Given the description of an element on the screen output the (x, y) to click on. 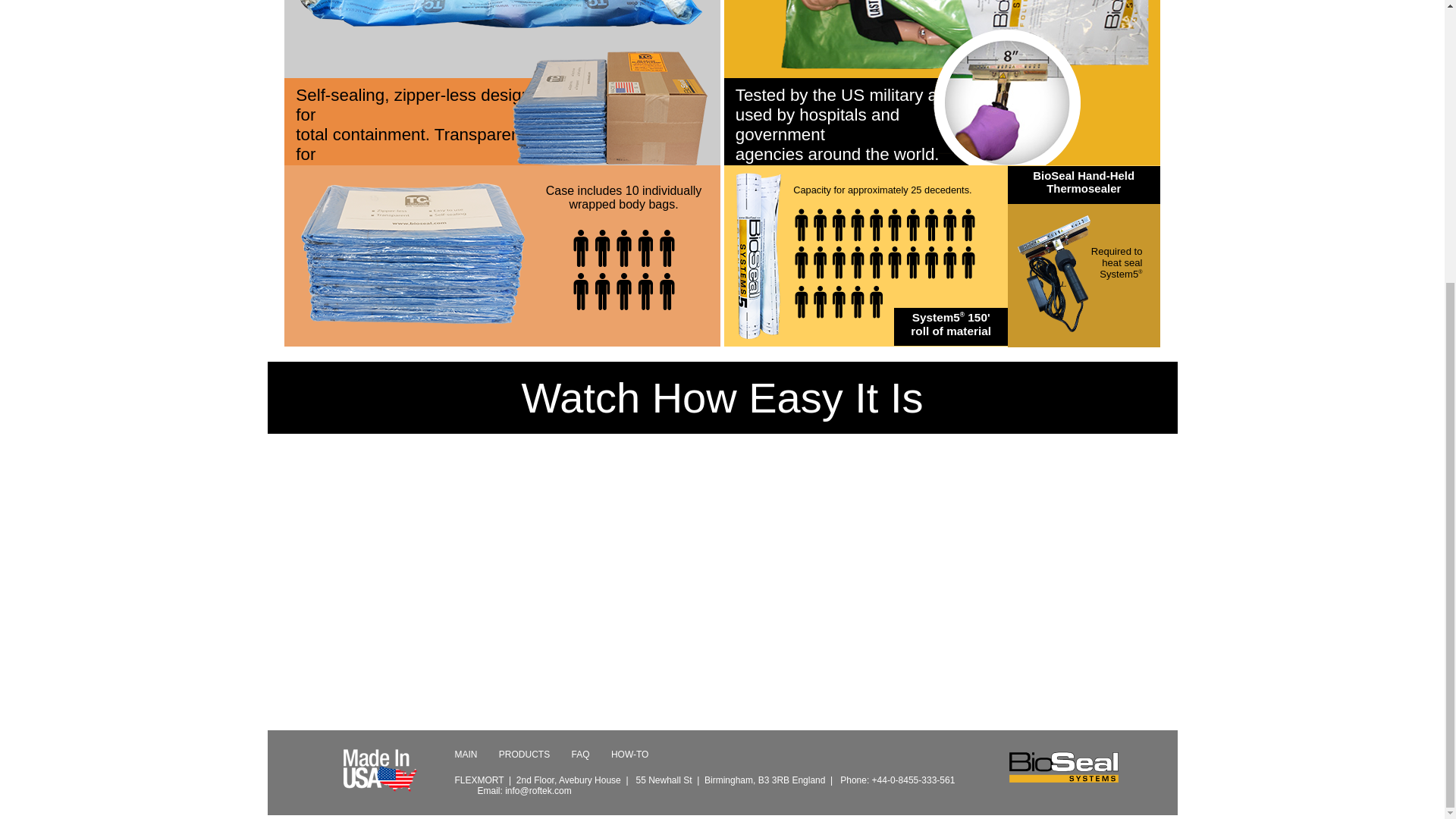
PRODUCTS (524, 754)
MAIN (465, 754)
HOW-TO (630, 754)
FAQ (580, 754)
